Given the description of an element on the screen output the (x, y) to click on. 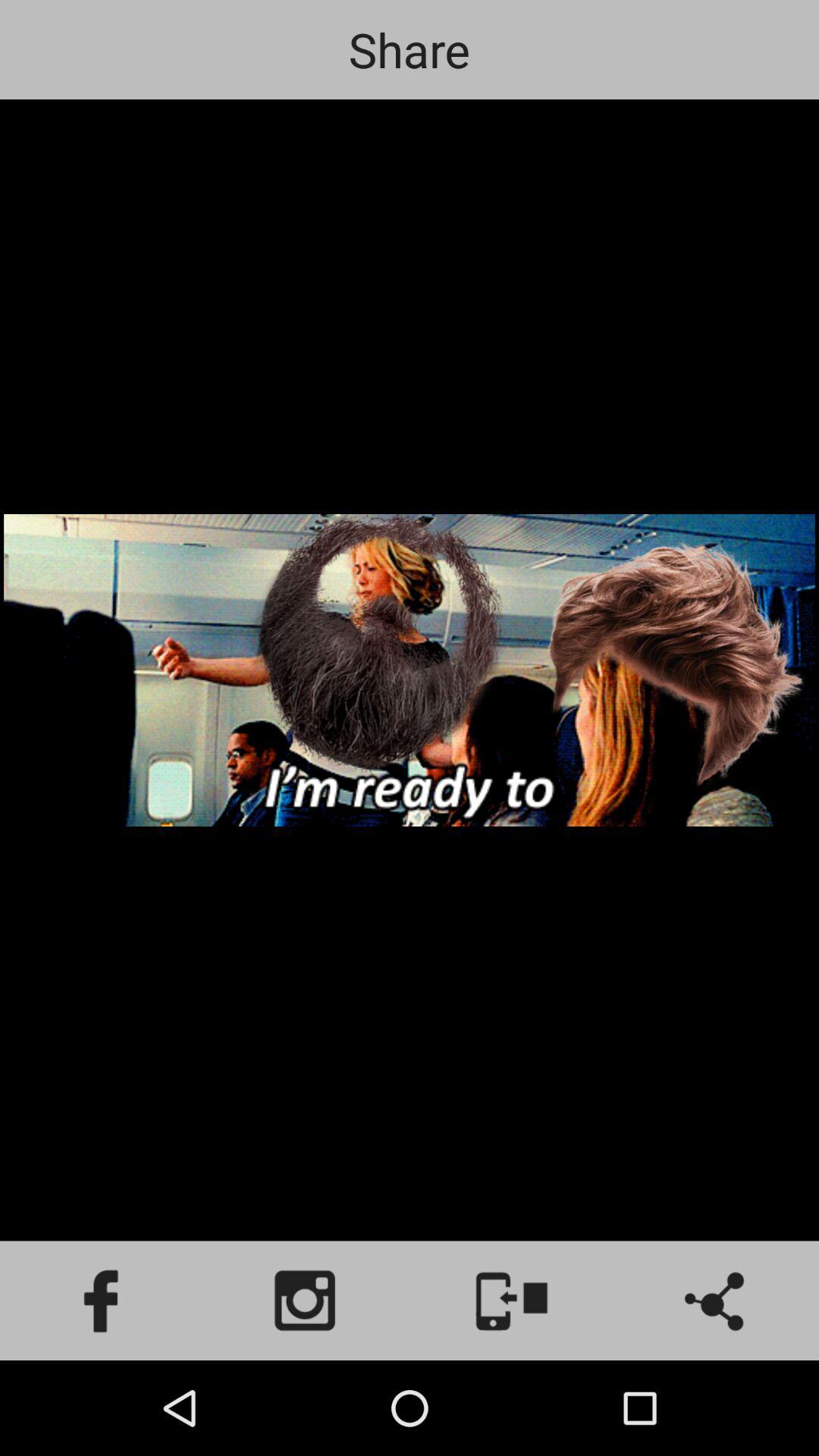
save to phone (511, 1300)
